Given the description of an element on the screen output the (x, y) to click on. 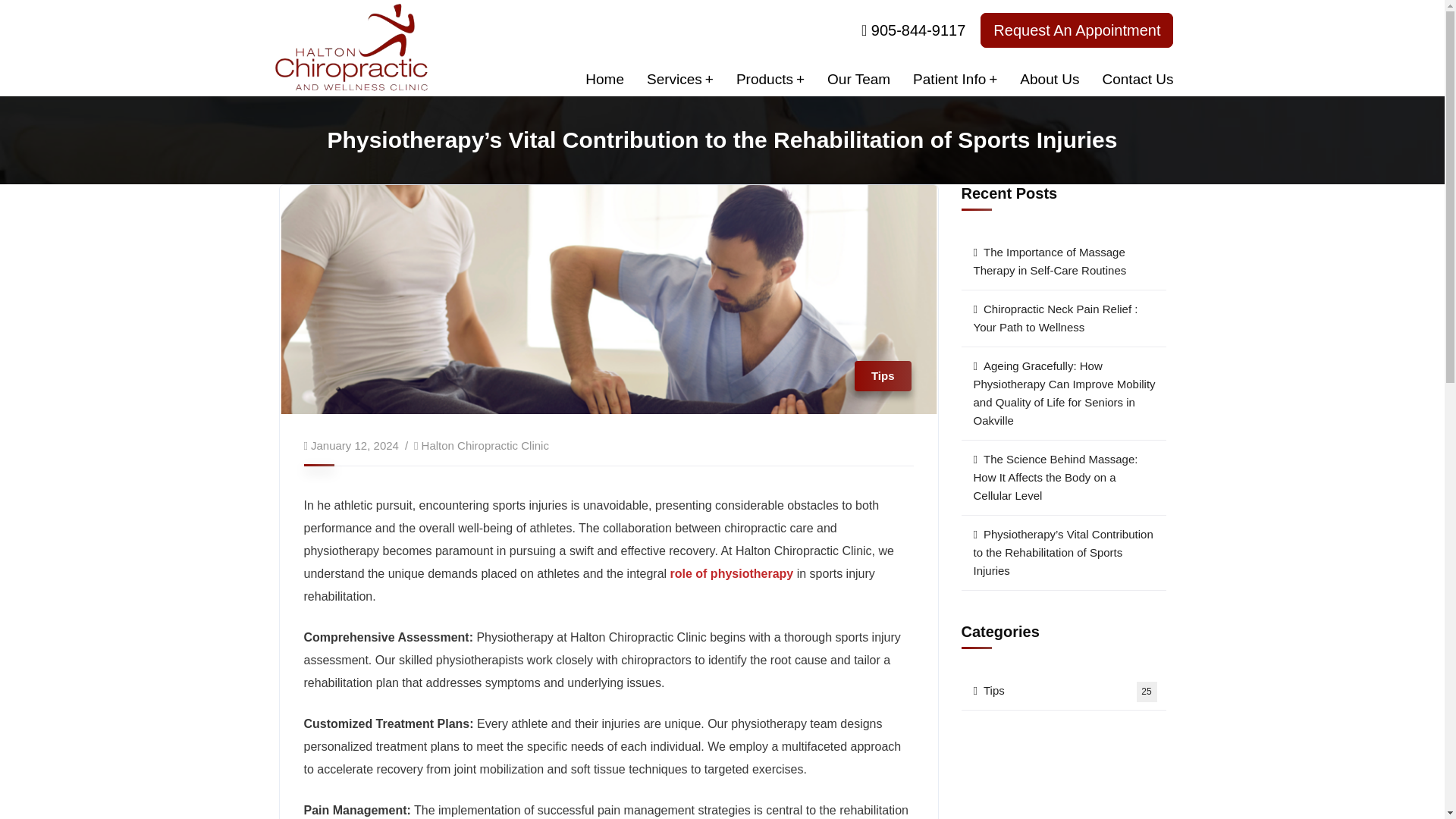
Contact Us (1137, 78)
Request An Appointment (1076, 30)
Our Team (858, 78)
Products (770, 78)
905-844-9117 (918, 30)
Home (604, 78)
About Us (1049, 78)
Posts by Halton Chiropractic Clinic (485, 445)
Patient Info (954, 78)
Services (679, 78)
